Given the description of an element on the screen output the (x, y) to click on. 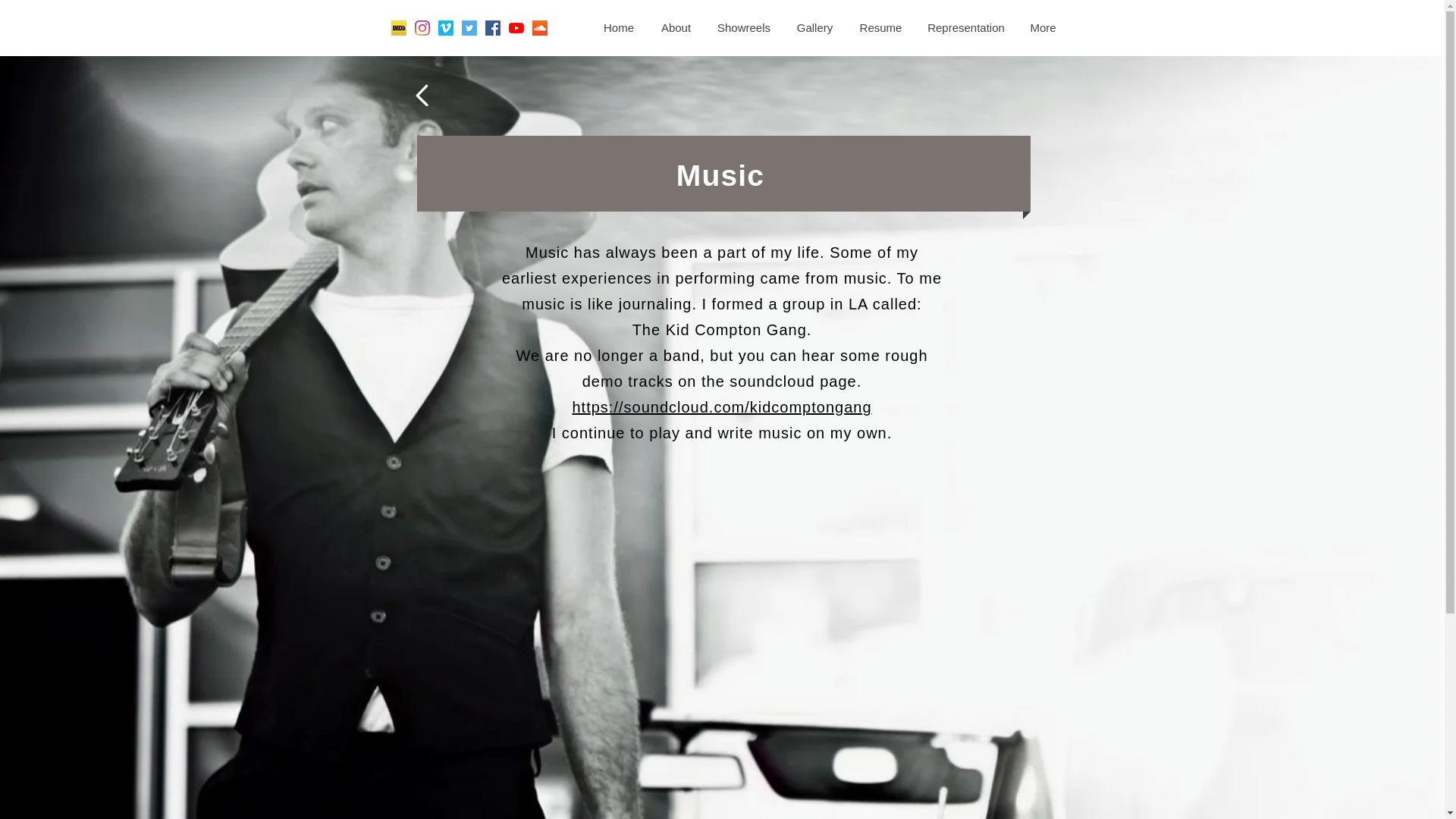
Resume (880, 27)
About (675, 27)
Showreels (743, 27)
Gallery (814, 27)
Home (617, 27)
Representation (965, 27)
